Given the description of an element on the screen output the (x, y) to click on. 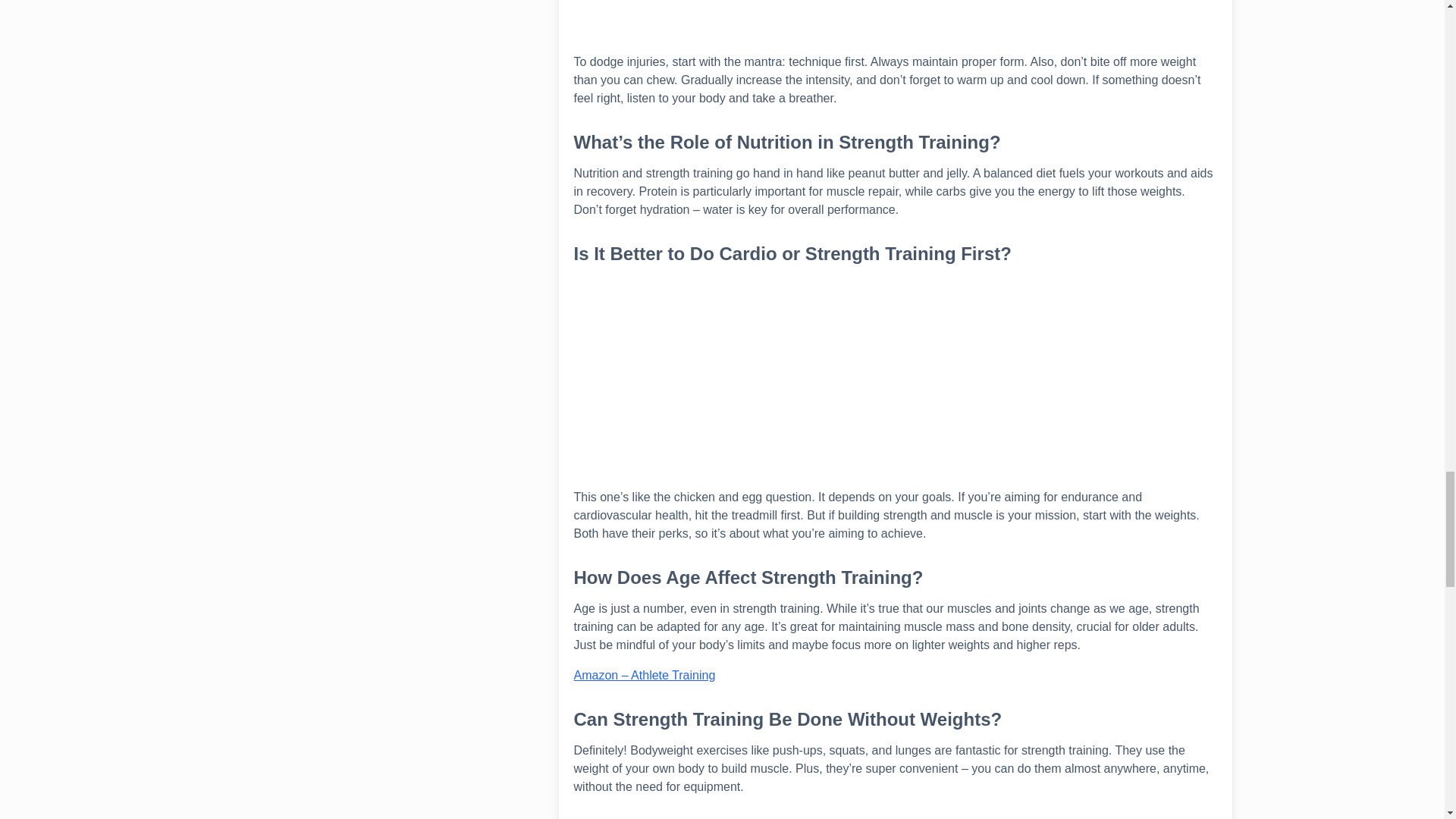
Advertisement (895, 26)
